Given the description of an element on the screen output the (x, y) to click on. 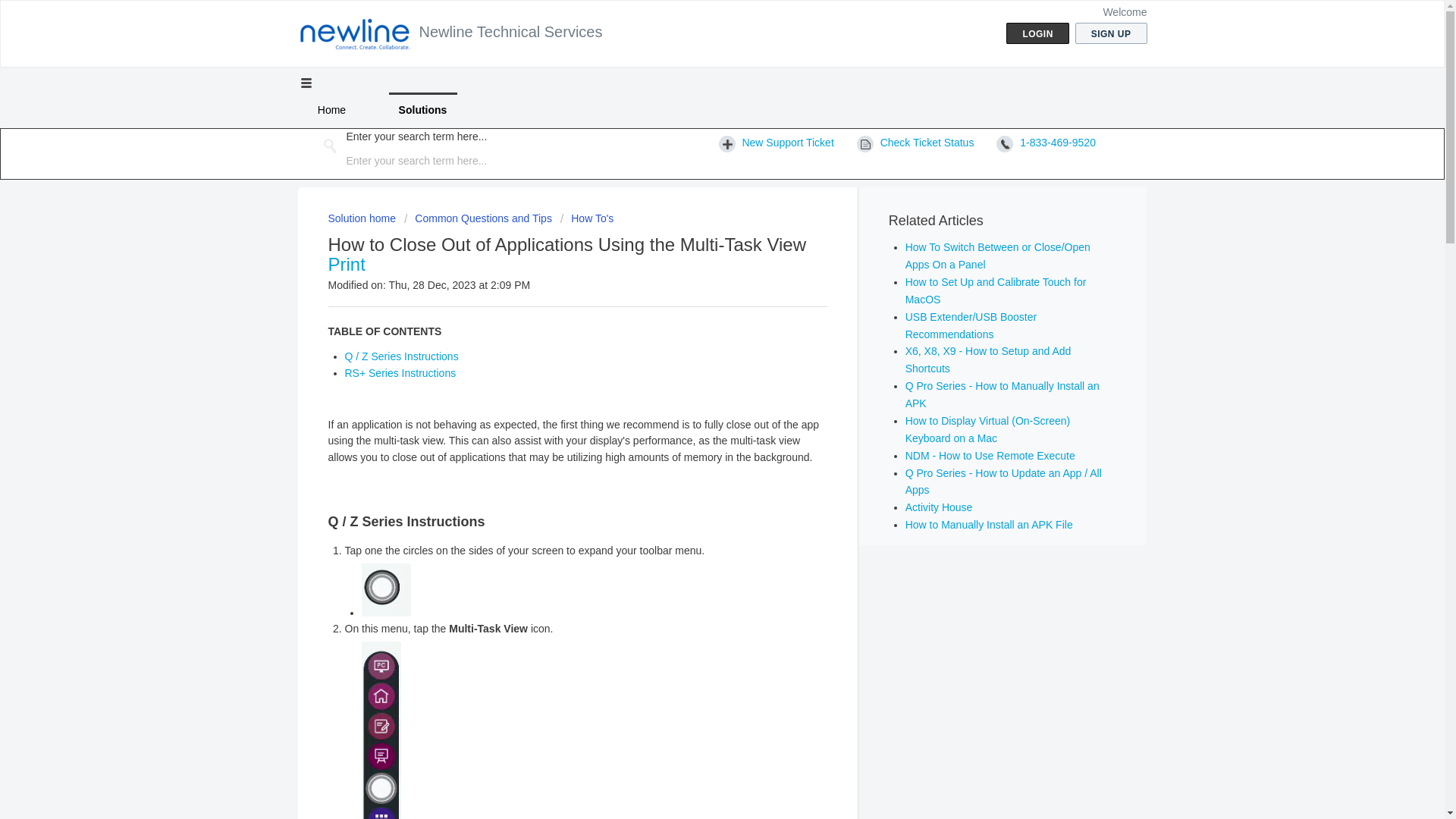
Solution home (362, 218)
Activity House (938, 507)
Common Questions and Tips (477, 218)
New support ticket (776, 143)
Check Ticket Status (915, 143)
Print (346, 263)
Home (331, 109)
How to Set Up and Calibrate Touch for MacOS (995, 290)
LOGIN (1037, 33)
How To's (587, 218)
1-833-469-9520 (1045, 143)
Q Pro Series - How to Manually Install an APK (1002, 394)
New Support Ticket (776, 143)
How to Manually Install an APK File (989, 524)
X6, X8, X9 - How to Setup and Add Shortcuts (988, 359)
